Given the description of an element on the screen output the (x, y) to click on. 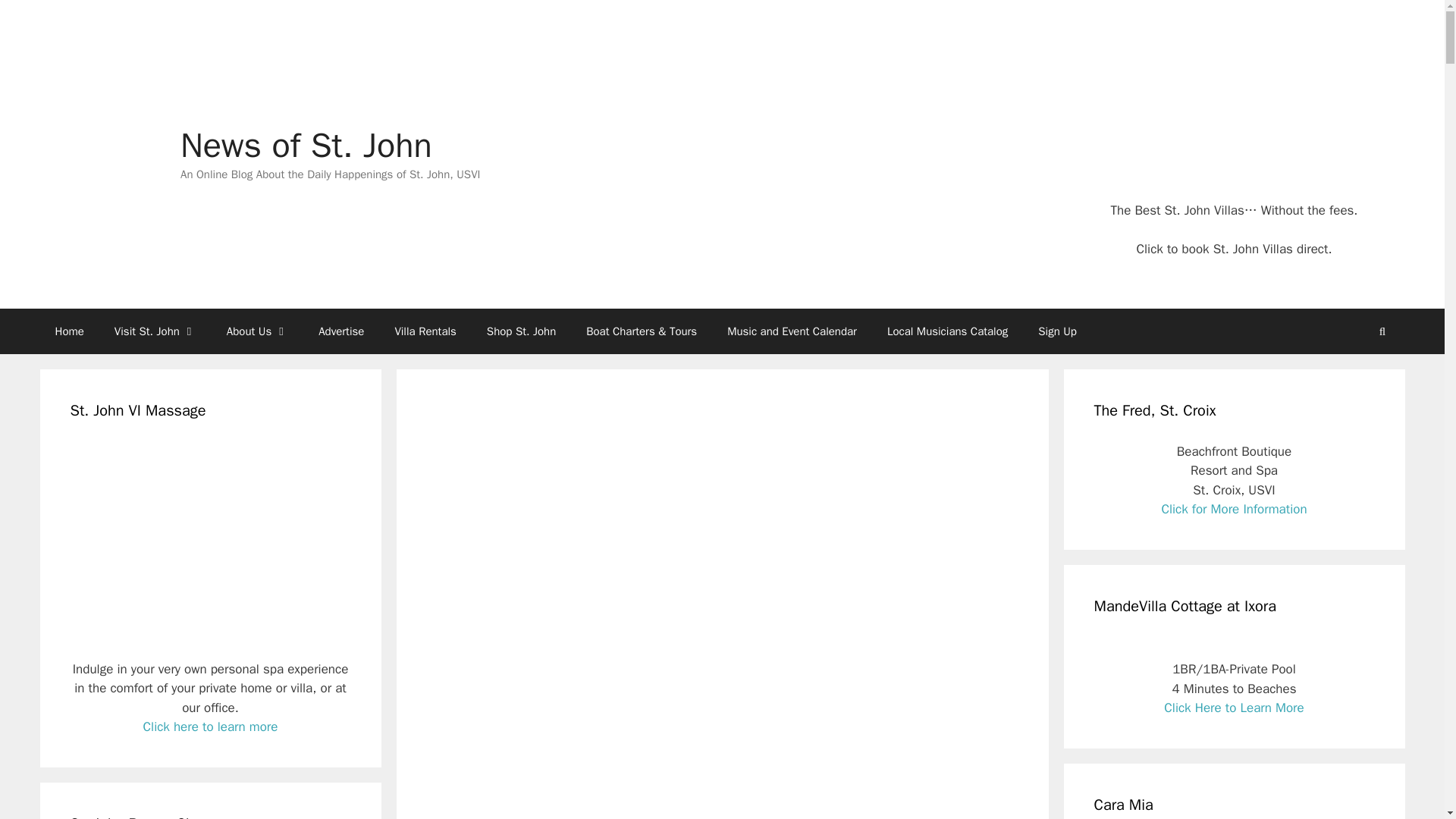
News of St. John (99, 153)
News of St. John (306, 145)
Villa Rentals (424, 330)
Home (69, 330)
About Us (256, 330)
Click to book St. John Villas direct. (1233, 248)
Advertise (340, 330)
Sign Up (1057, 330)
Shop St. John (520, 330)
Search (1382, 330)
